Given the description of an element on the screen output the (x, y) to click on. 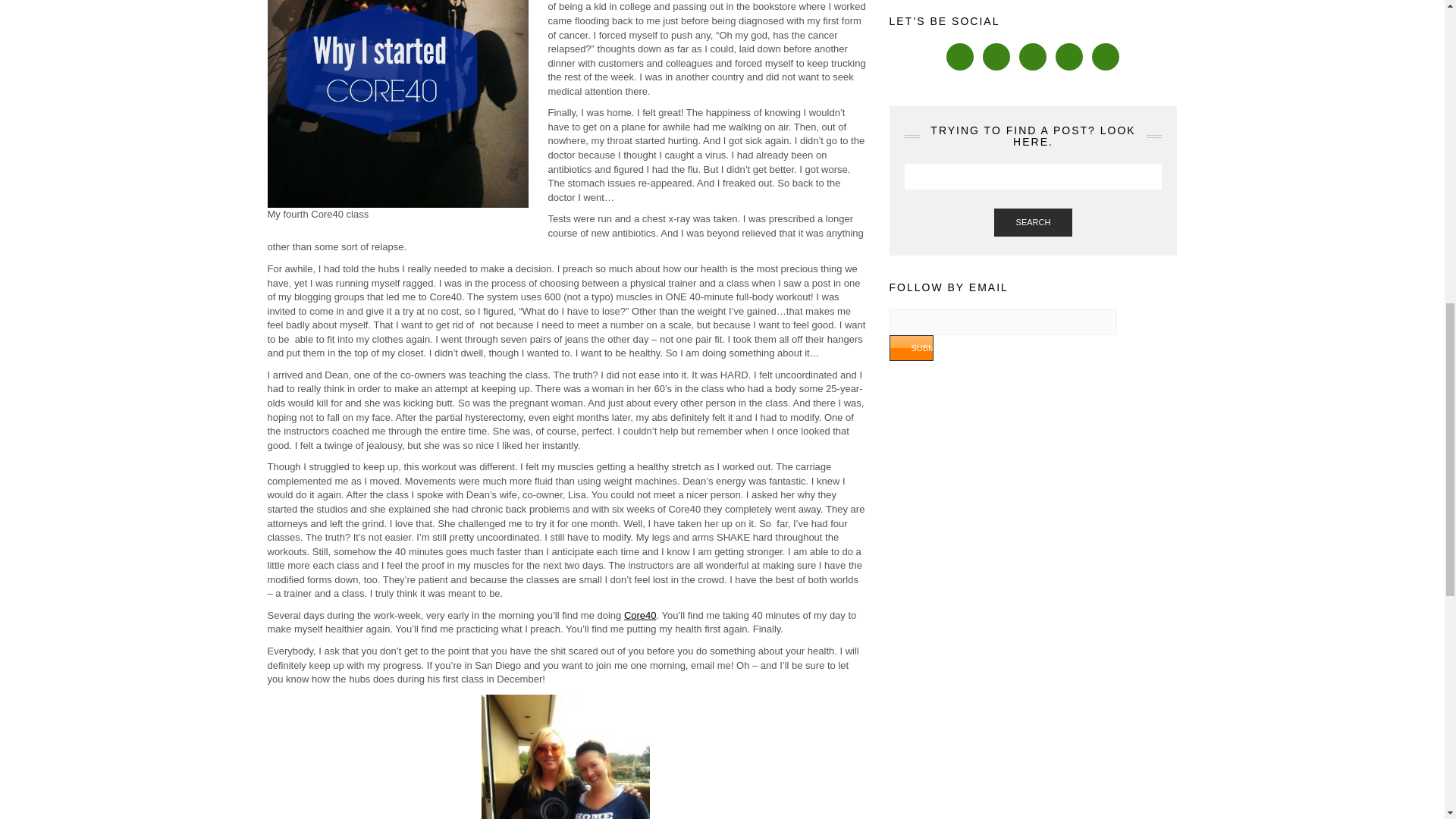
Core40 (640, 614)
Submit (910, 347)
